Given the description of an element on the screen output the (x, y) to click on. 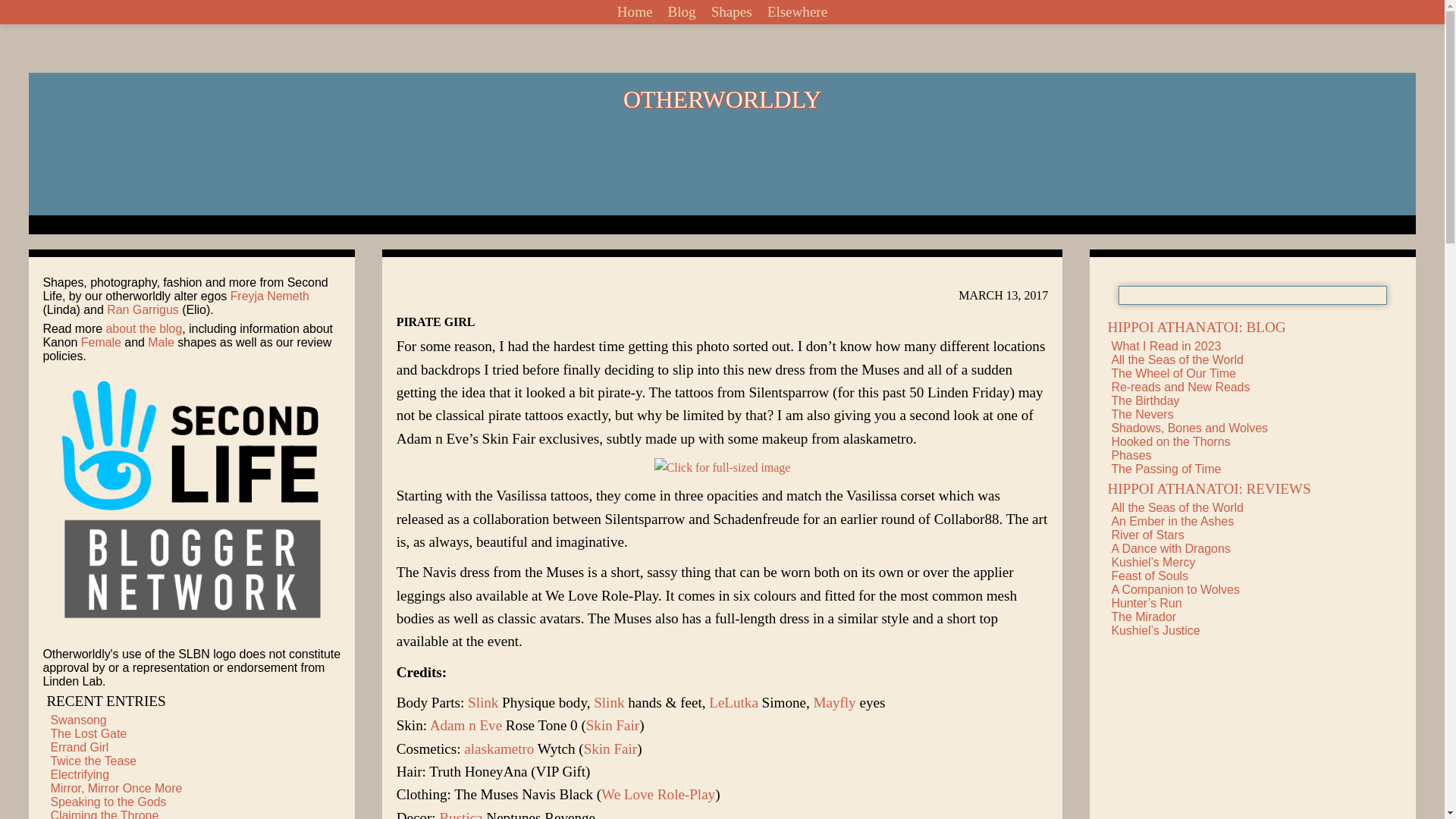
Swansong (77, 719)
Male (161, 341)
about the blog (144, 328)
The Lost Gate (87, 733)
Shapes (731, 12)
Elsewhere (797, 12)
Twice the Tease (92, 760)
Errand Girl (78, 747)
Blog (681, 12)
Ran Garrigus (142, 309)
Home (635, 12)
Freyja Nemeth (269, 295)
Speaking to the Gods (107, 801)
Second Life Blogger Network (192, 502)
Female (100, 341)
